Given the description of an element on the screen output the (x, y) to click on. 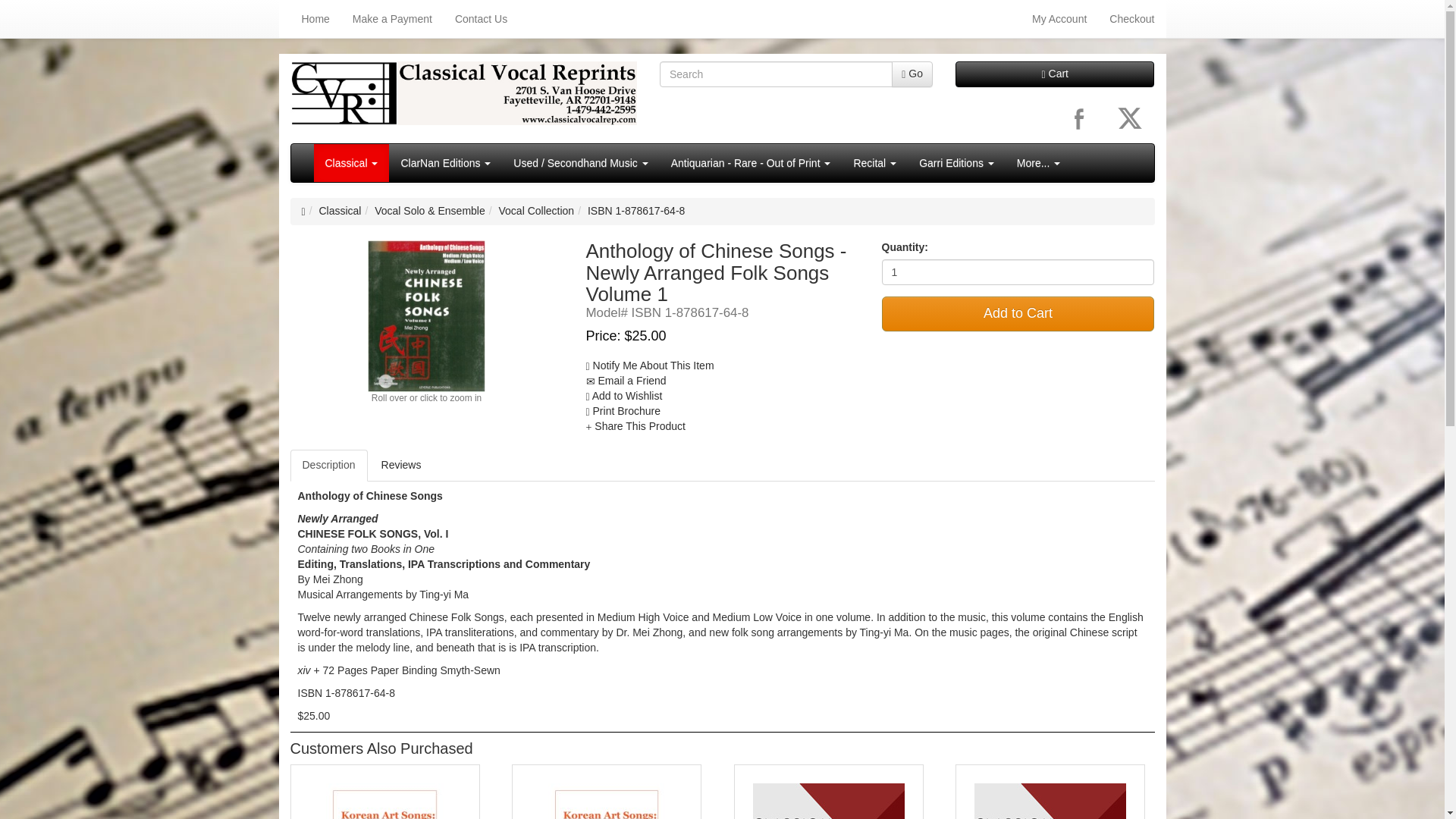
Recital (874, 162)
Contact Us (481, 18)
Make a Payment (392, 18)
Garri Editions (956, 162)
Classical (352, 162)
Cart (1054, 73)
My Account (1058, 18)
1 (1017, 272)
Go (912, 73)
Antiquarian - Rare - Out of Print (751, 162)
More... (1038, 162)
Checkout (1131, 18)
Home (314, 18)
ClarNan Editions (445, 162)
